Given the description of an element on the screen output the (x, y) to click on. 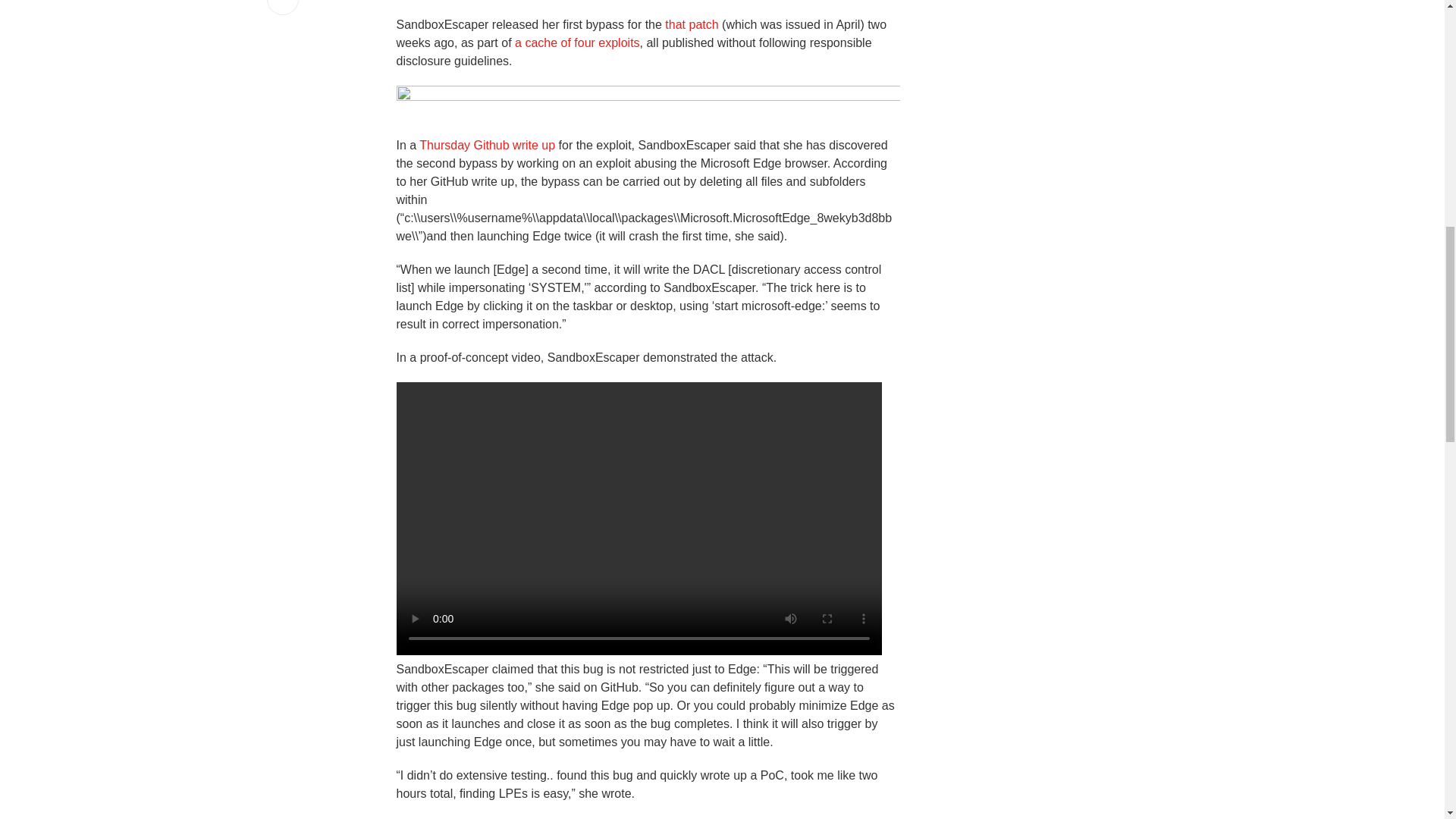
a cache of four exploits (577, 42)
that patch (691, 24)
Thursday Github write up (486, 144)
